Given the description of an element on the screen output the (x, y) to click on. 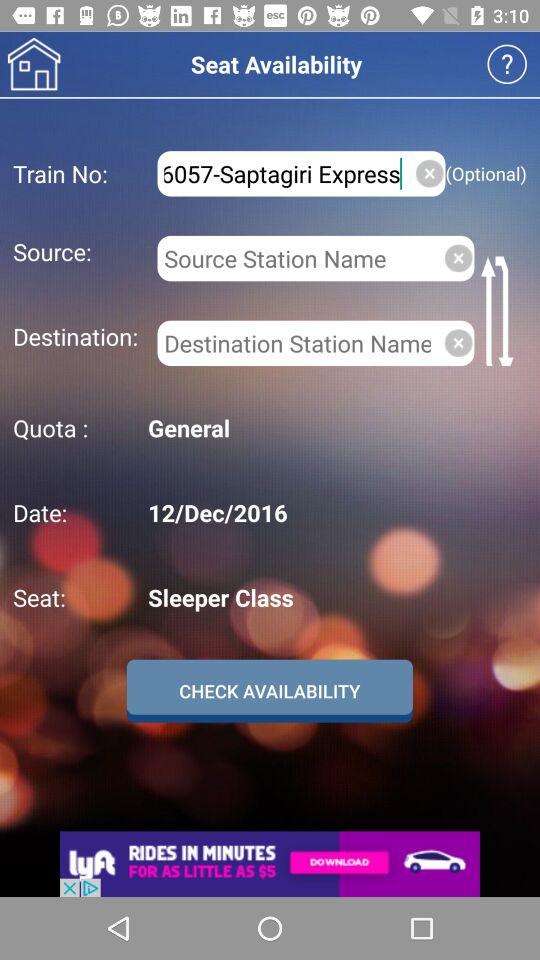
clear the current source station name (458, 258)
